Given the description of an element on the screen output the (x, y) to click on. 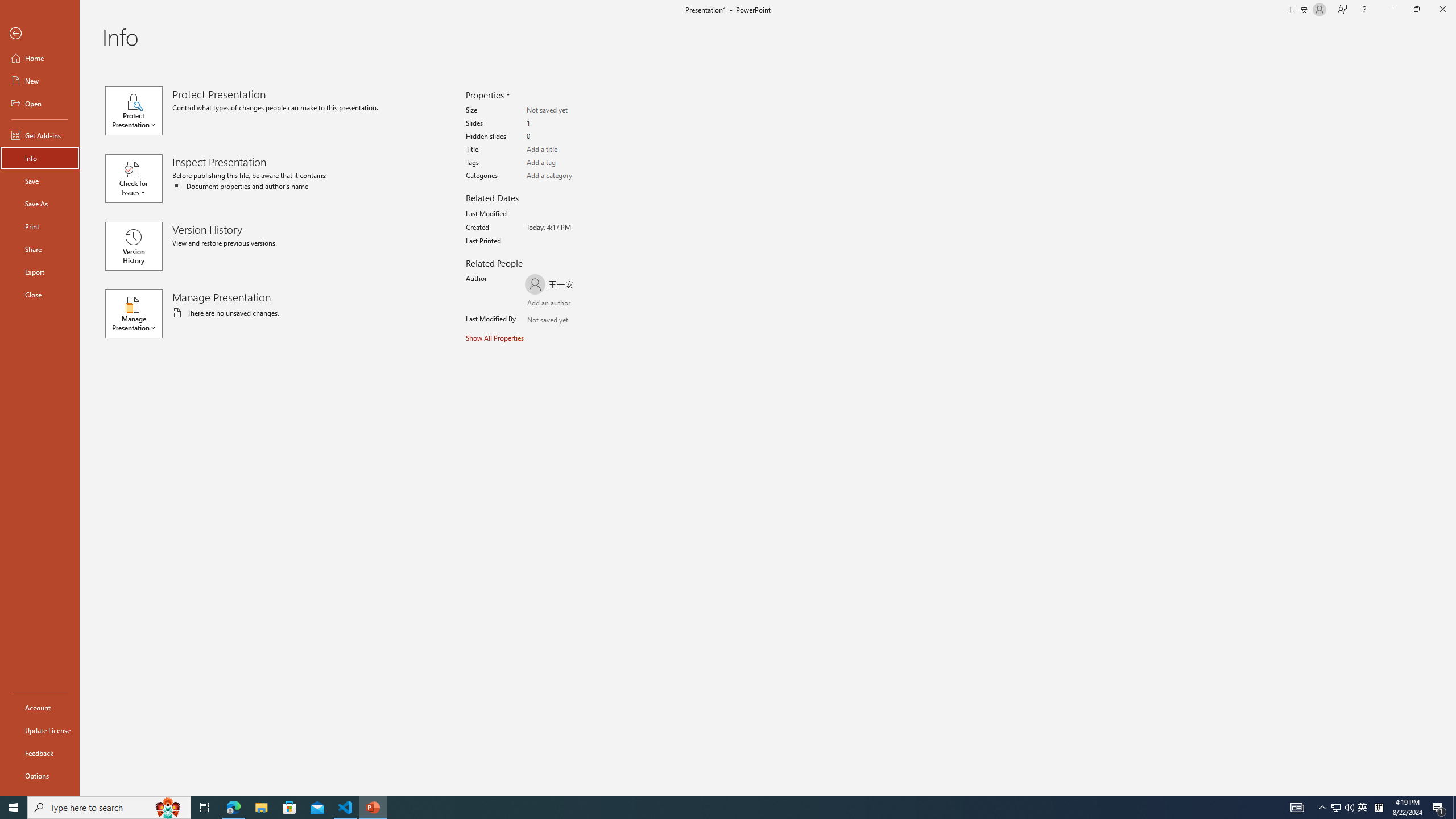
Options (40, 775)
Version History (133, 246)
Save As (40, 203)
Check for Issues (137, 178)
Info (40, 157)
Add an author (538, 304)
Browse Address Book (595, 321)
Categories (571, 175)
Verify Names (559, 320)
Back (40, 33)
Hidden slides (571, 136)
